Given the description of an element on the screen output the (x, y) to click on. 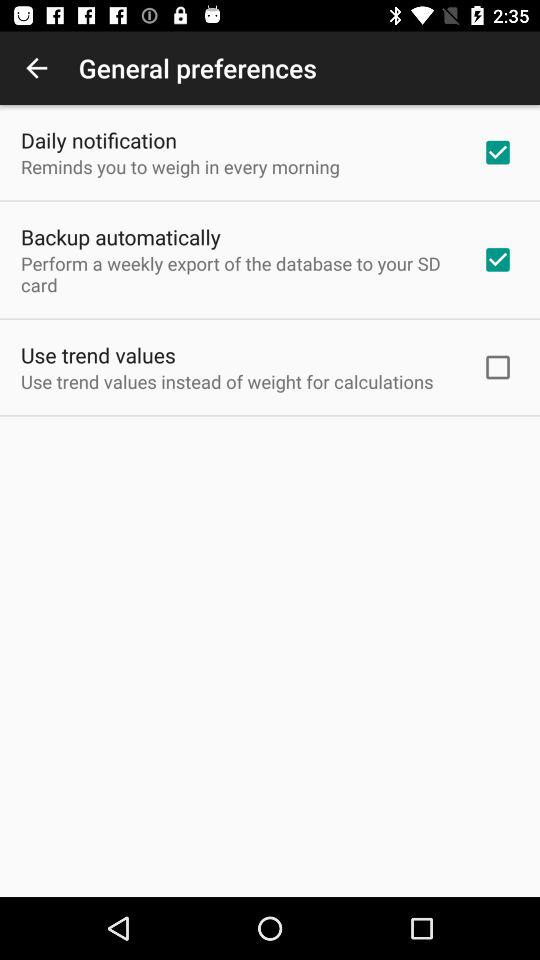
open app to the left of the general preferences icon (36, 68)
